Given the description of an element on the screen output the (x, y) to click on. 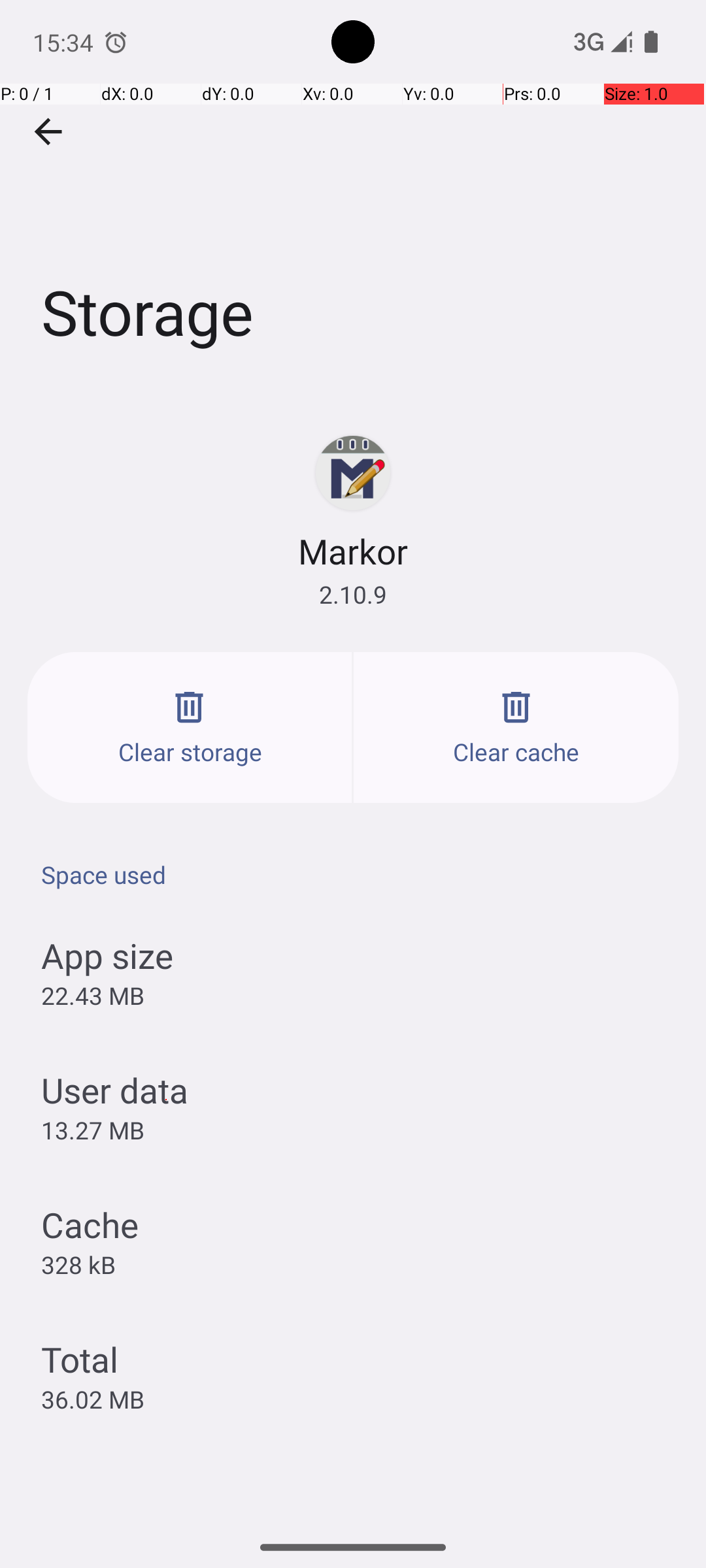
2.10.9 Element type: android.widget.TextView (352, 593)
22.43 MB Element type: android.widget.TextView (92, 995)
13.27 MB Element type: android.widget.TextView (92, 1129)
328 kB Element type: android.widget.TextView (78, 1264)
36.02 MB Element type: android.widget.TextView (92, 1398)
